Given the description of an element on the screen output the (x, y) to click on. 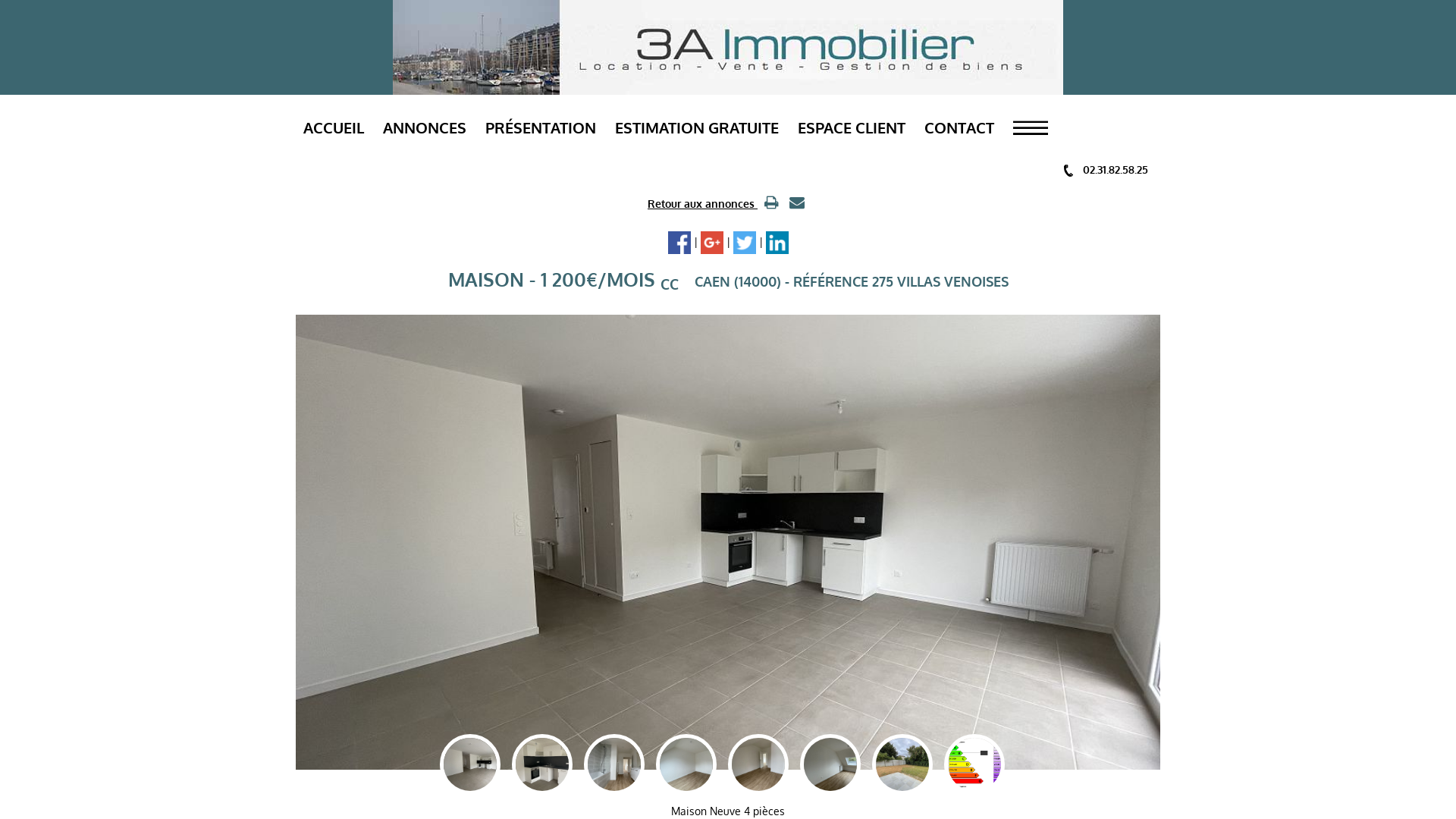
ANNONCES Element type: text (424, 127)
CONTACT Element type: text (959, 127)
ESTIMATION GRATUITE Element type: text (696, 127)
Maison CAEN (14000) 3A Immobilier Element type: hover (838, 763)
ESPACE CLIENT Element type: text (851, 127)
lien bien facebook Element type: hover (678, 242)
Maison CAEN (14000) 3A Immobilier Element type: hover (550, 763)
Retour aux annonces Element type: text (702, 203)
lien bien Linkdin Element type: hover (776, 242)
ACCUEIL Element type: text (333, 127)
lien bien twitter Element type: hover (743, 242)
Maison CAEN (14000) 3A Immobilier Element type: hover (766, 763)
Maison CAEN (14000) 3A Immobilier Element type: hover (910, 763)
Maison CAEN (14000) 3A Immobilier Element type: hover (622, 763)
Maison CAEN (14000) 3A Immobilier Element type: hover (478, 763)
  Element type: text (769, 203)
Maison CAEN (14000) 3A Immobilier Element type: hover (694, 763)
lien bien google plus Element type: hover (711, 242)
